Given the description of an element on the screen output the (x, y) to click on. 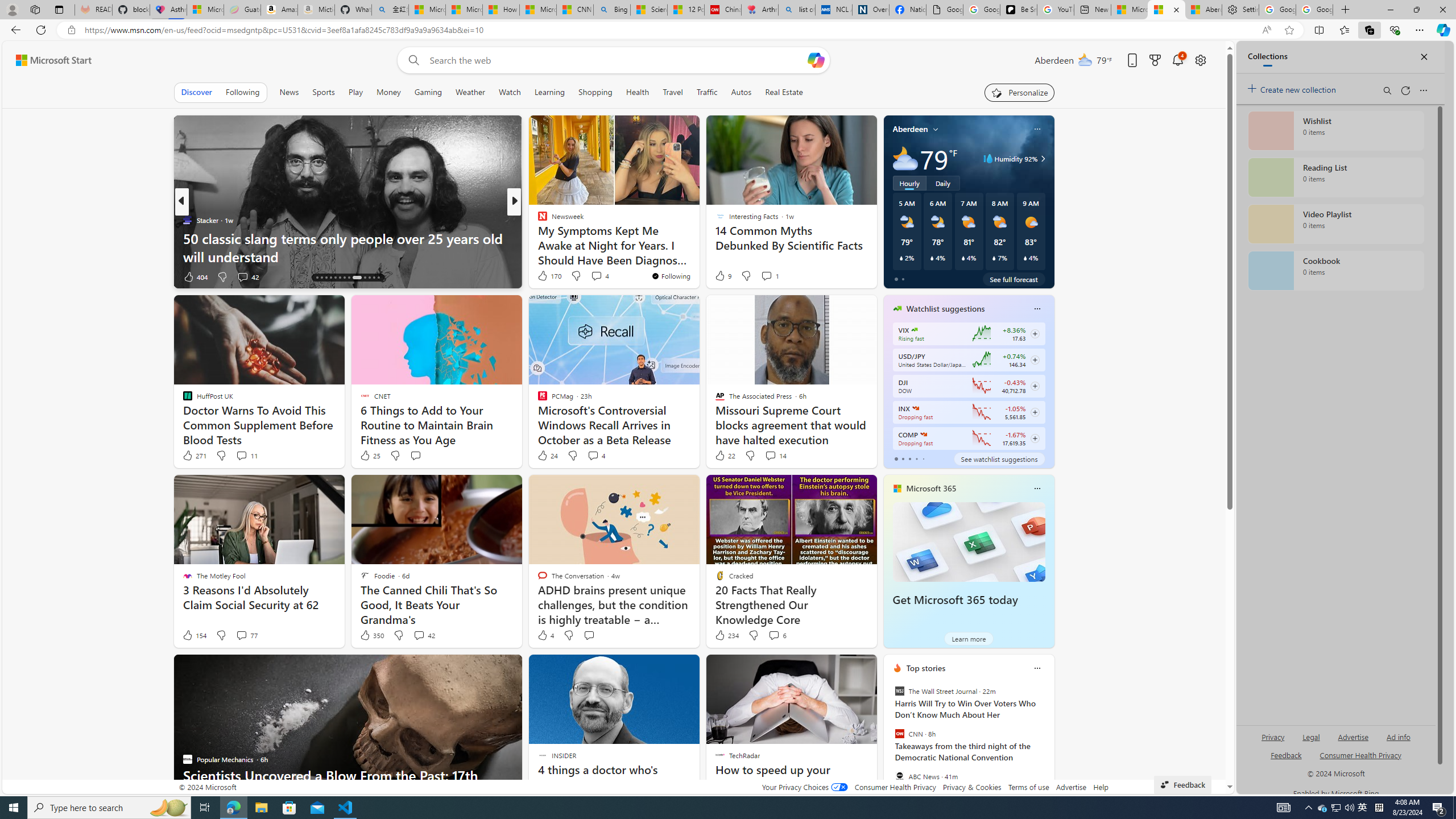
View comments 34 Comment (592, 276)
See watchlist suggestions (999, 459)
Hide this story (841, 668)
234 Like (726, 634)
View comments 5 Comment (589, 276)
